Given the description of an element on the screen output the (x, y) to click on. 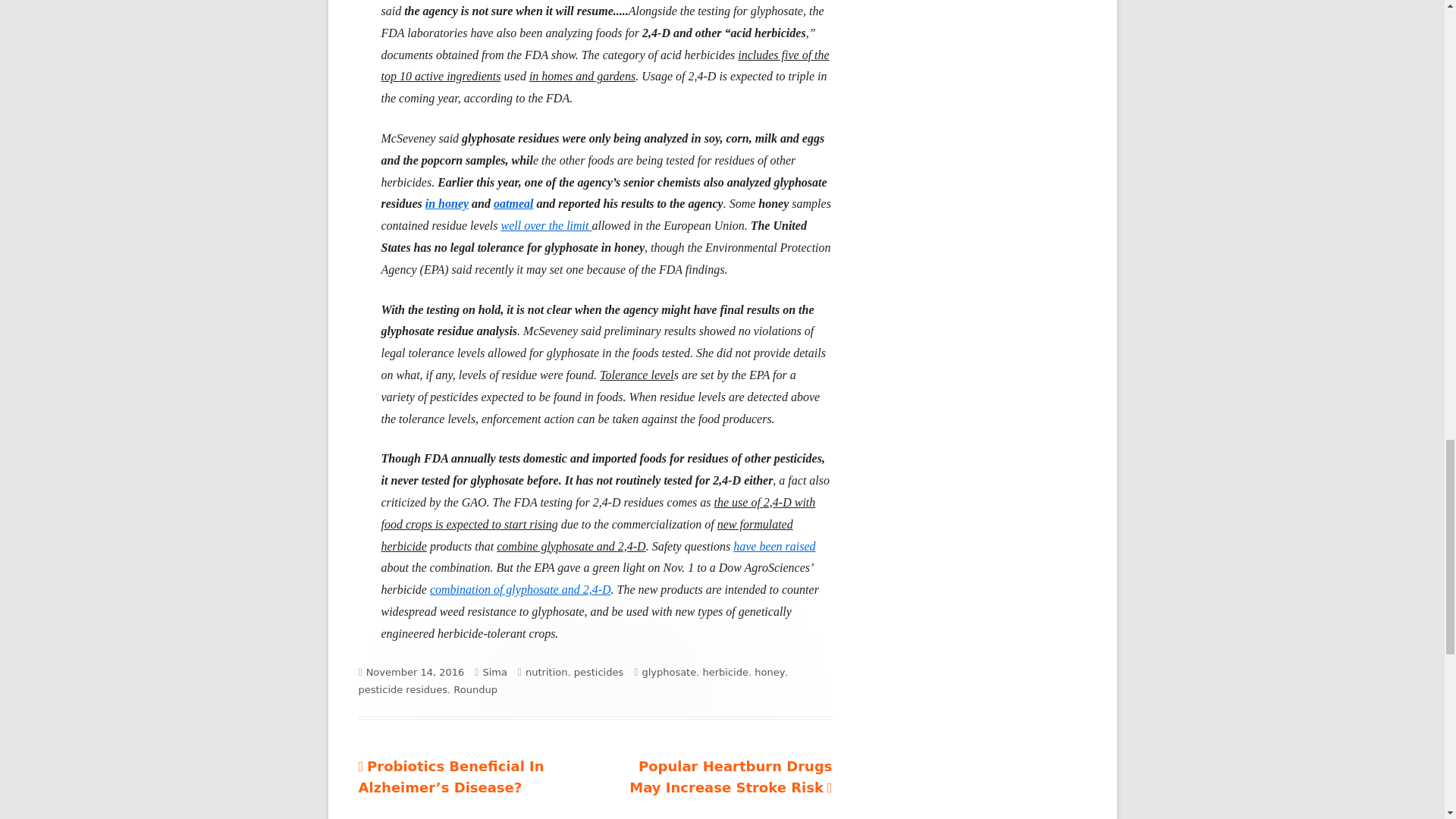
November 14, 2016 (415, 672)
have been raised (774, 545)
oatmeal (512, 203)
Sima (493, 672)
combination of glyphosate and 2,4-D (520, 589)
pesticides (598, 672)
pesticide residues (402, 689)
nutrition (546, 672)
glyphosate (668, 672)
well over the limit (546, 225)
honey (769, 672)
in honey (446, 203)
herbicide (724, 672)
